Given the description of an element on the screen output the (x, y) to click on. 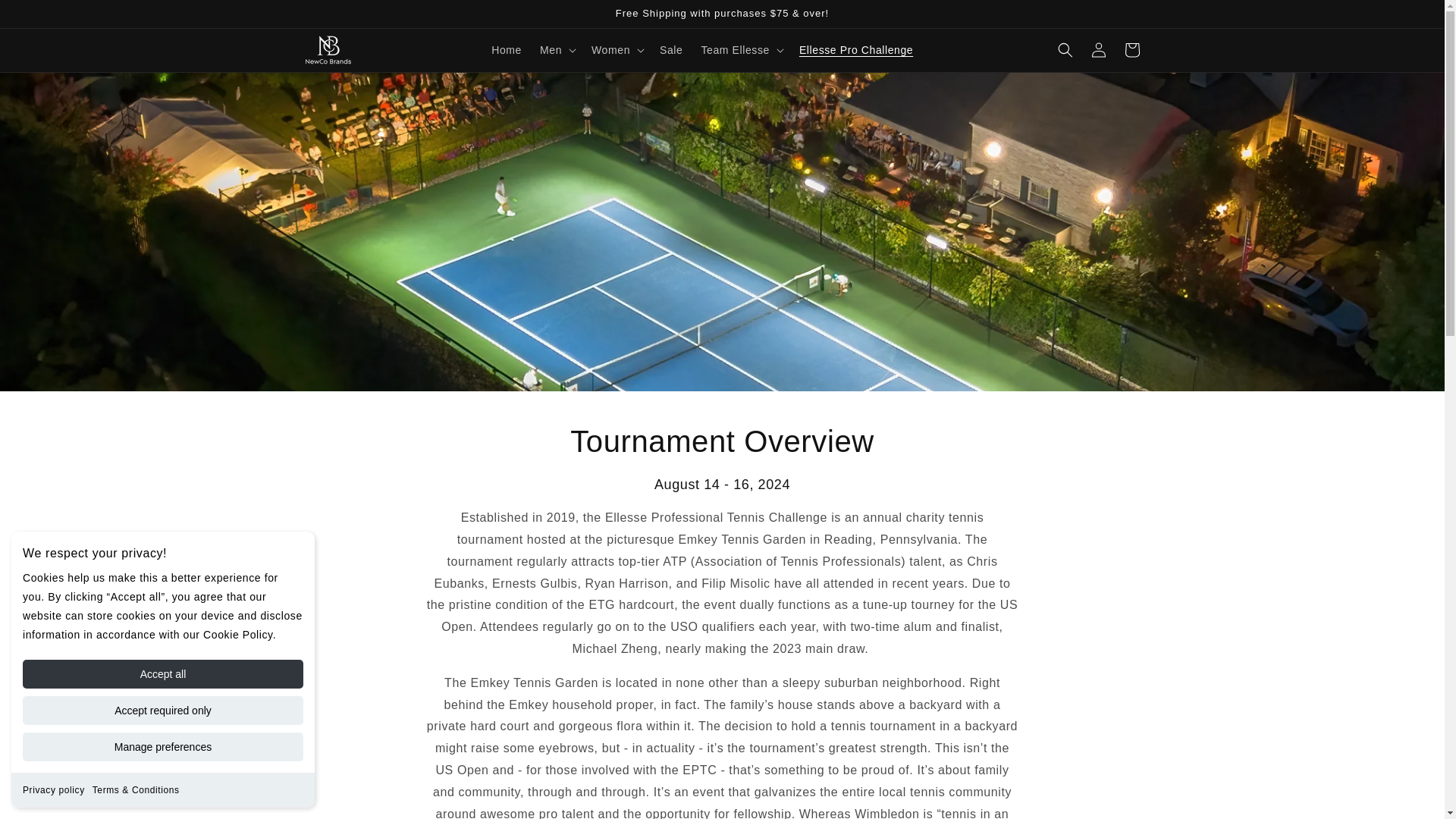
Manage preferences (162, 746)
Accept all (162, 674)
Skip to content (45, 16)
Accept required only (162, 710)
Privacy policy (53, 789)
Home (506, 50)
